Given the description of an element on the screen output the (x, y) to click on. 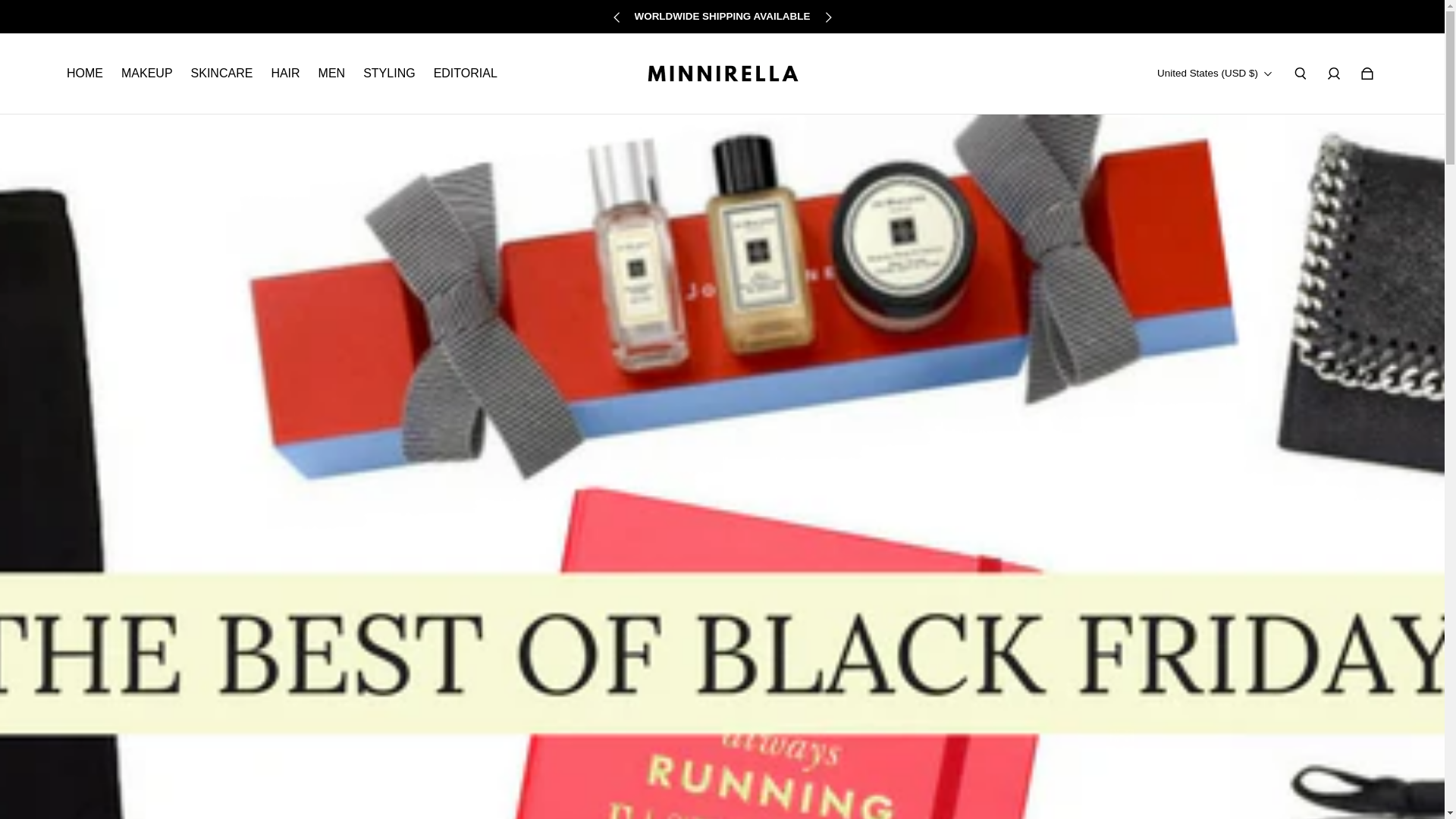
HAIR (284, 73)
HOME (84, 73)
SKINCARE (221, 73)
EDITORIAL (465, 73)
STYLING (388, 73)
MAKEUP (146, 73)
MEN (332, 73)
